Given the description of an element on the screen output the (x, y) to click on. 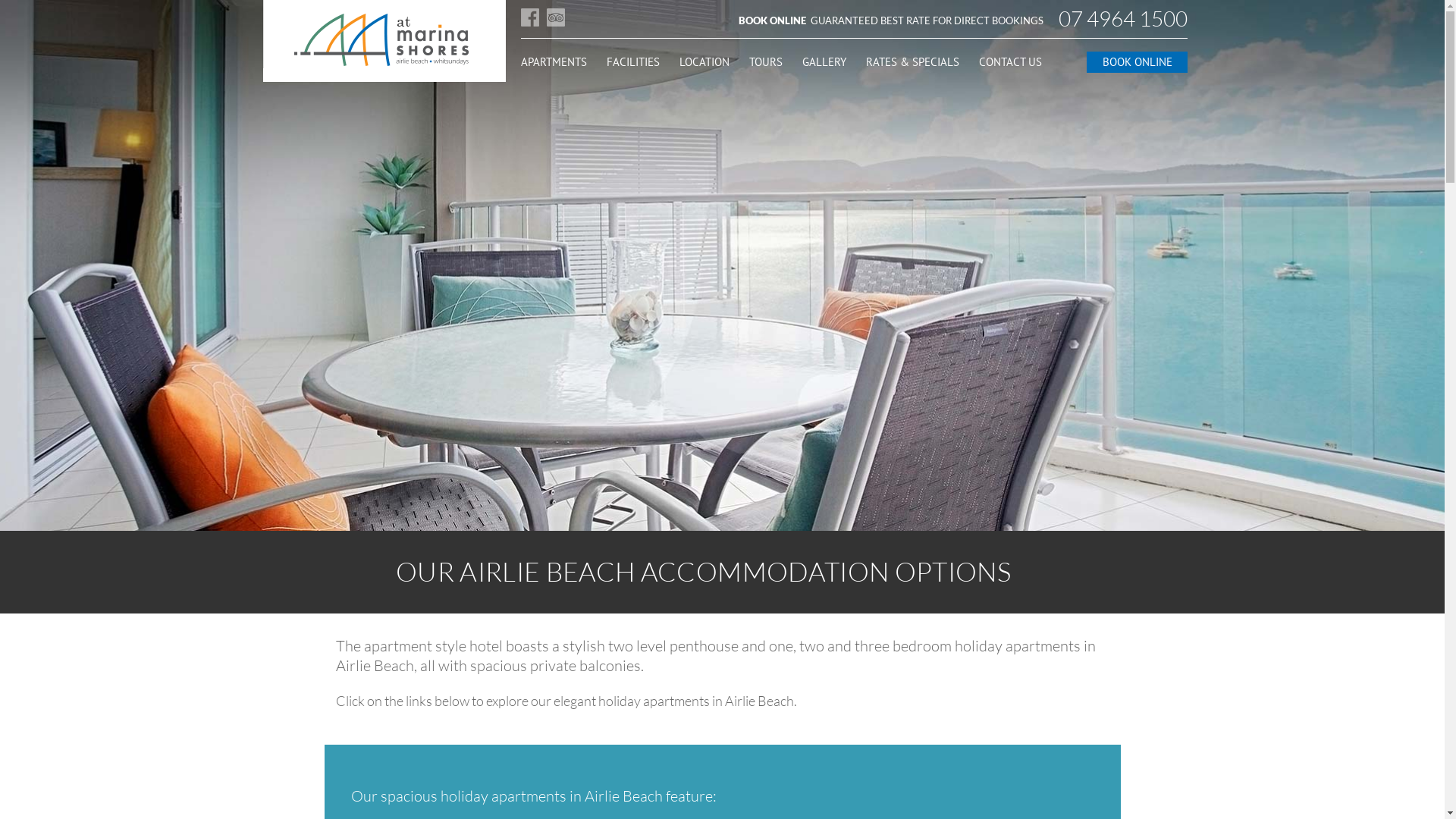
GALLERY Element type: text (824, 61)
RATES & SPECIALS Element type: text (912, 61)
TOURS Element type: text (765, 61)
LOCATION Element type: text (704, 61)
CONTACT US Element type: text (1009, 61)
APARTMENTS Element type: text (553, 61)
BOOK ONLINE Element type: text (773, 20)
FACILITIES Element type: text (632, 61)
BOOK ONLINE Element type: text (1135, 61)
07 4964 1500 Element type: text (1122, 18)
